Given the description of an element on the screen output the (x, y) to click on. 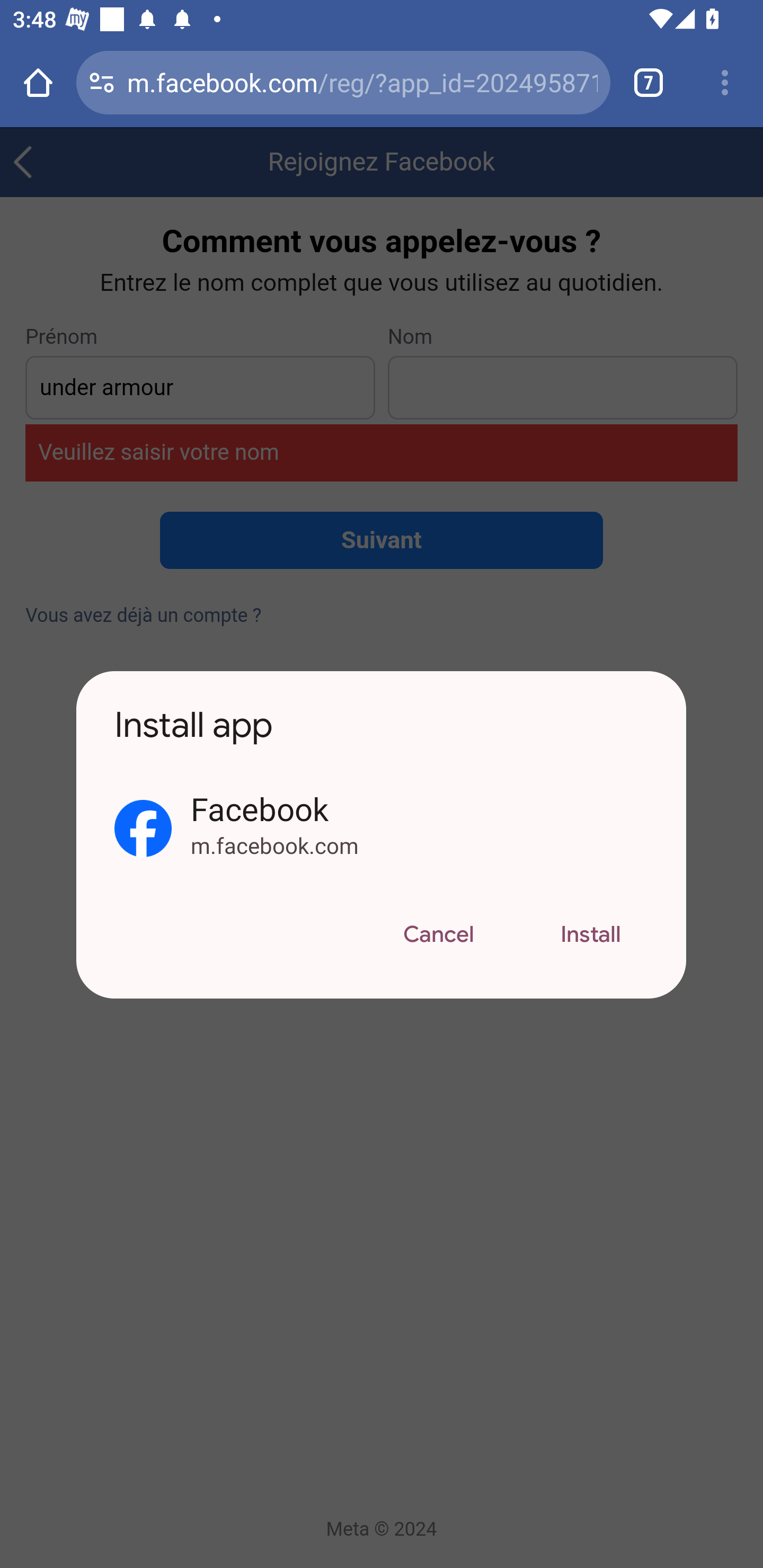
Open the home page (38, 82)
Connection is secure (101, 82)
Switch or close tabs (648, 82)
Customize and control Google Chrome (724, 82)
Facebook (418, 808)
Facebook (142, 828)
Cancel (438, 934)
Install (590, 934)
